Given the description of an element on the screen output the (x, y) to click on. 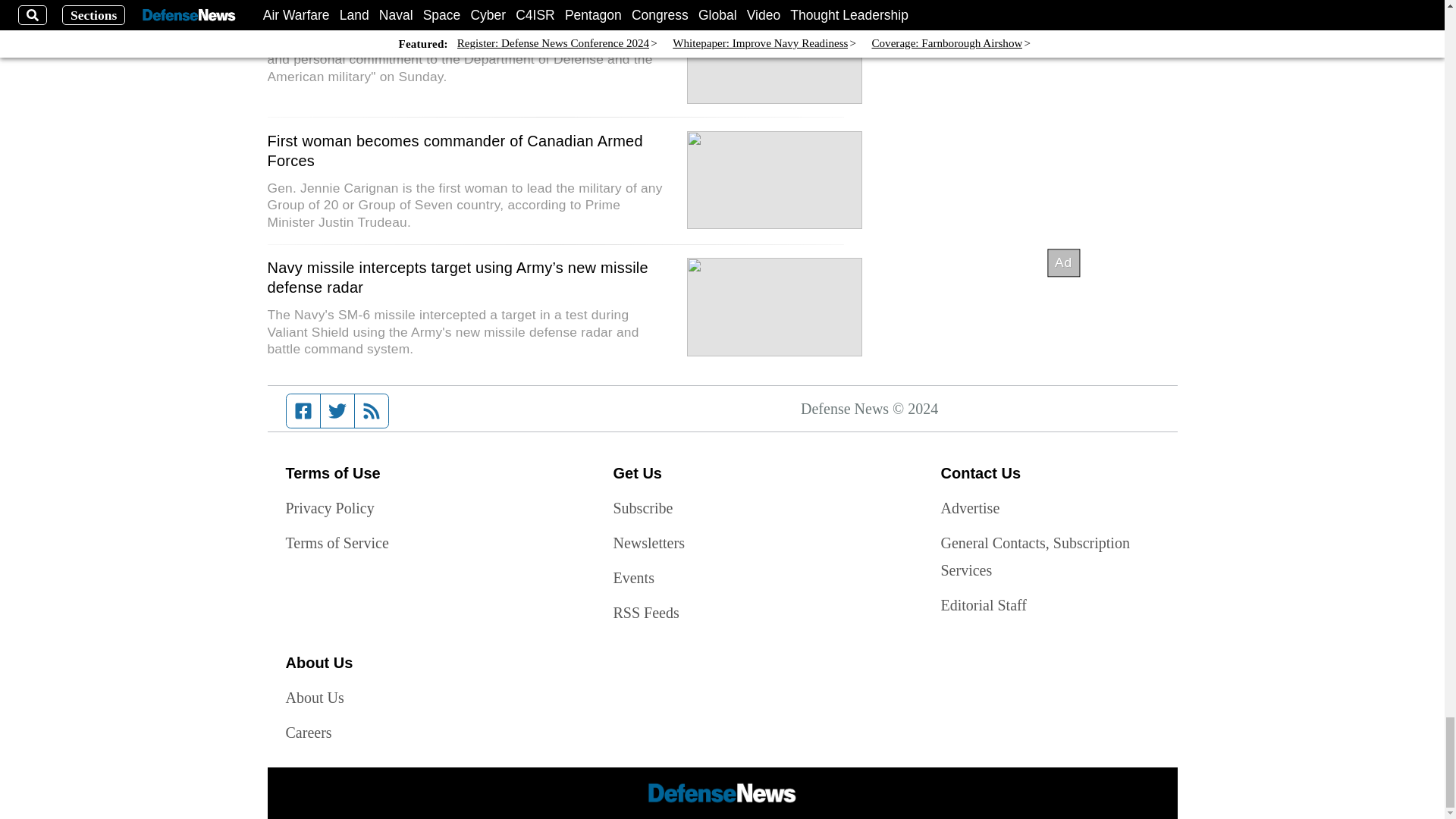
RSS feed (371, 410)
Facebook page (303, 410)
Twitter feed (336, 410)
